Given the description of an element on the screen output the (x, y) to click on. 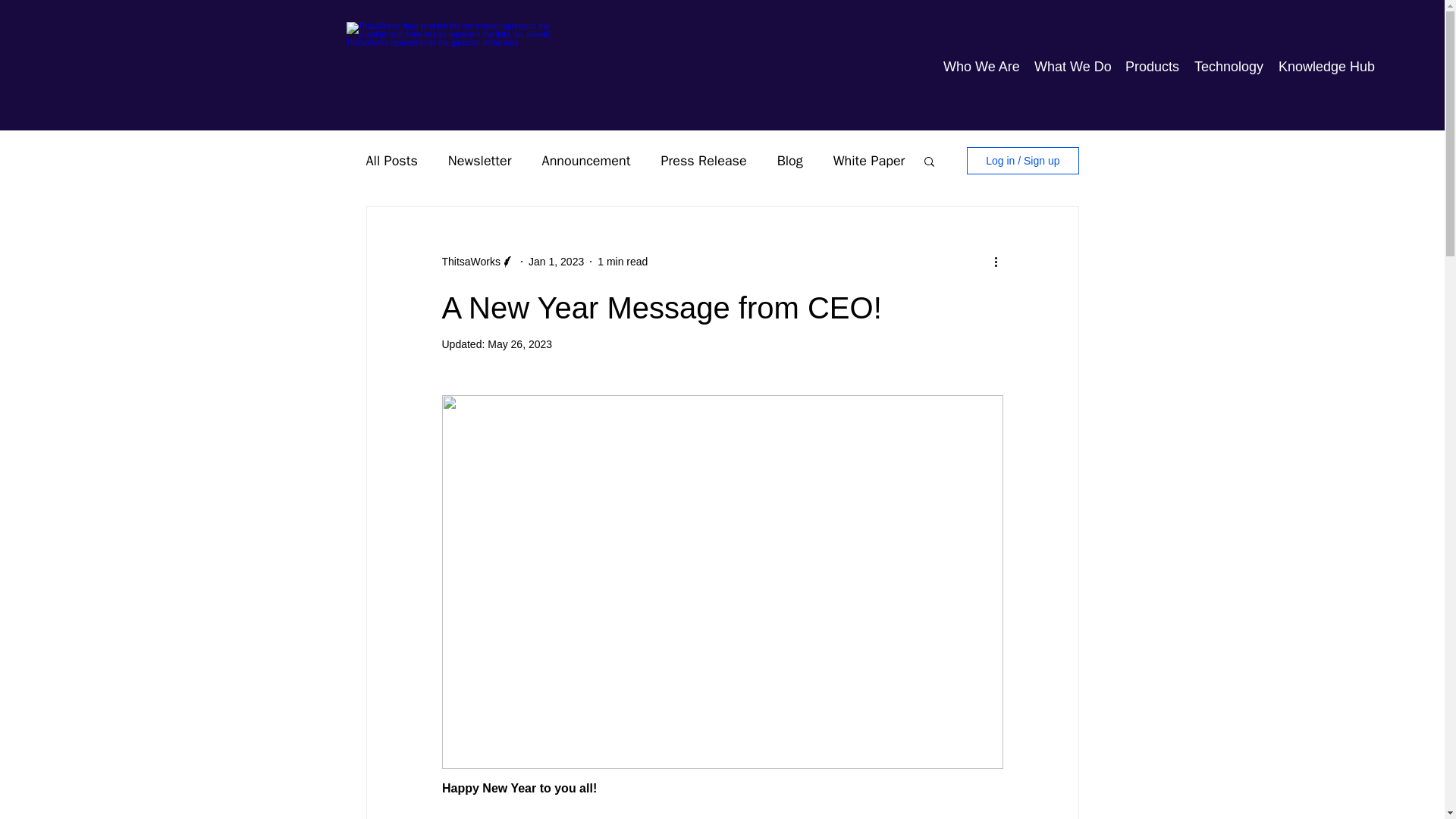
All Posts (390, 160)
Announcement (585, 160)
May 26, 2023 (519, 344)
Newsletter (480, 160)
1 min read (621, 260)
Press Release (703, 160)
Knowledge Hub (1326, 65)
Blog (790, 160)
ThitsaWorks (470, 261)
White Paper (868, 160)
